Given the description of an element on the screen output the (x, y) to click on. 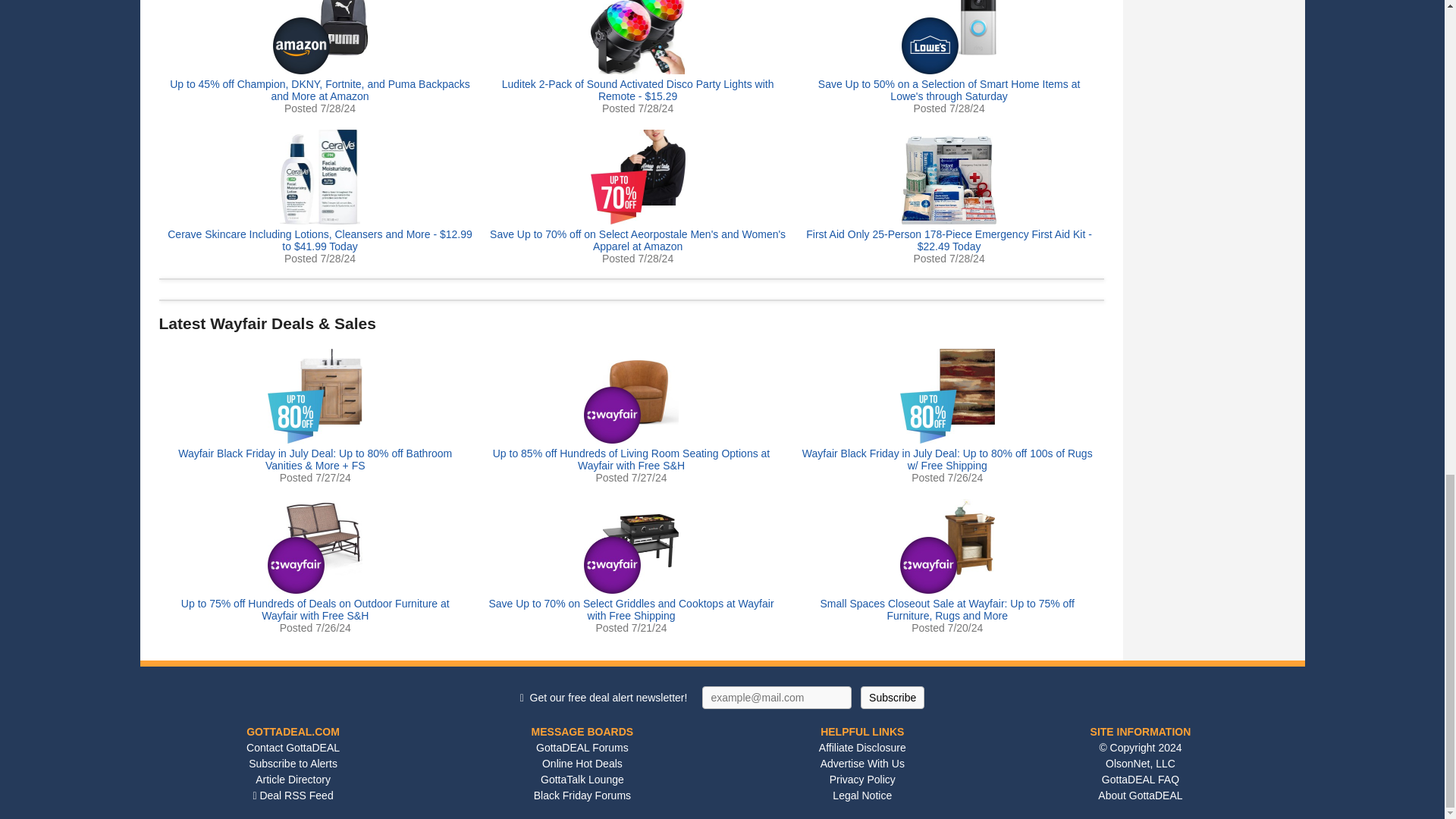
Subscribe (892, 697)
